Given the description of an element on the screen output the (x, y) to click on. 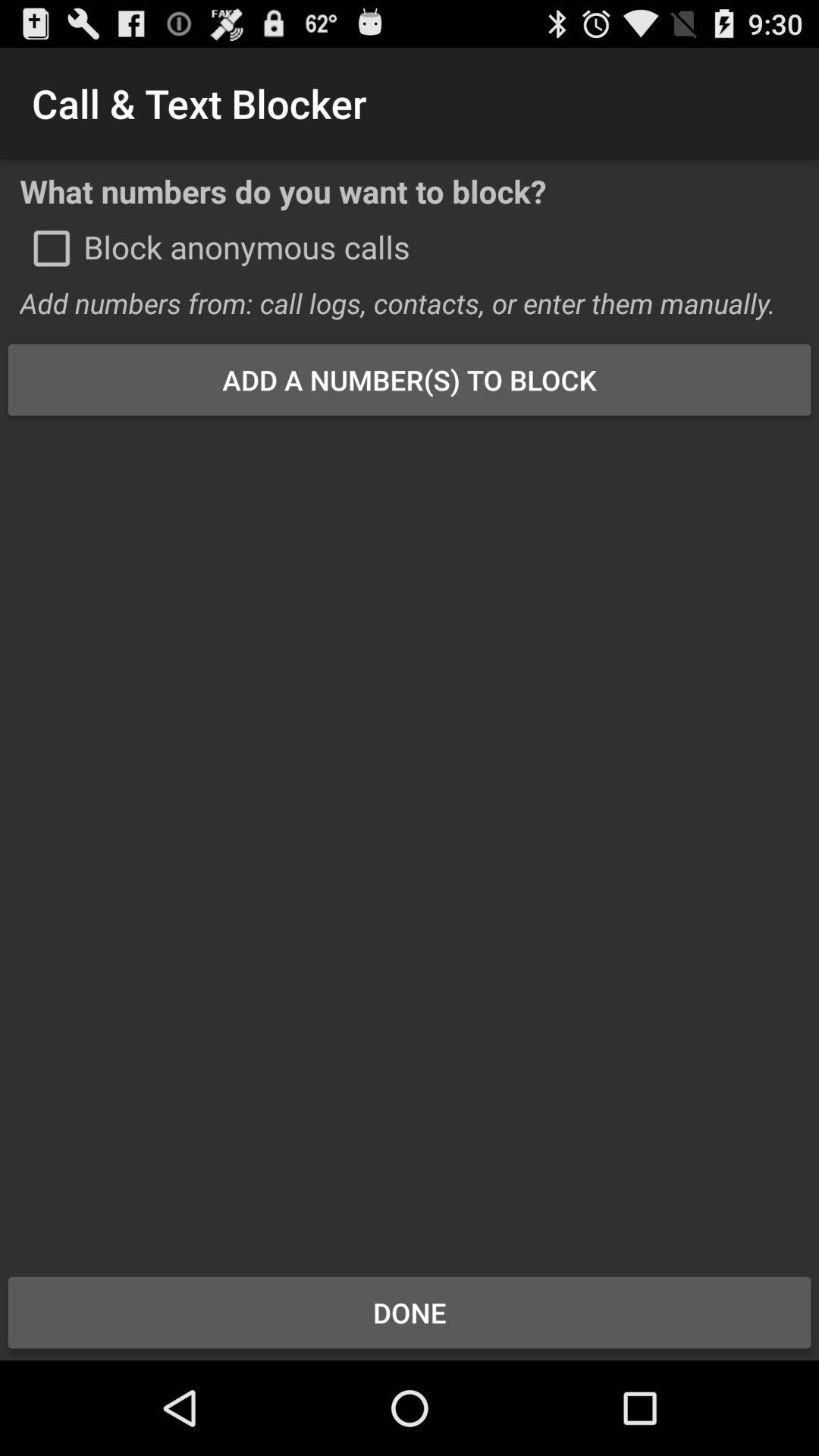
scroll until the done (409, 1312)
